Given the description of an element on the screen output the (x, y) to click on. 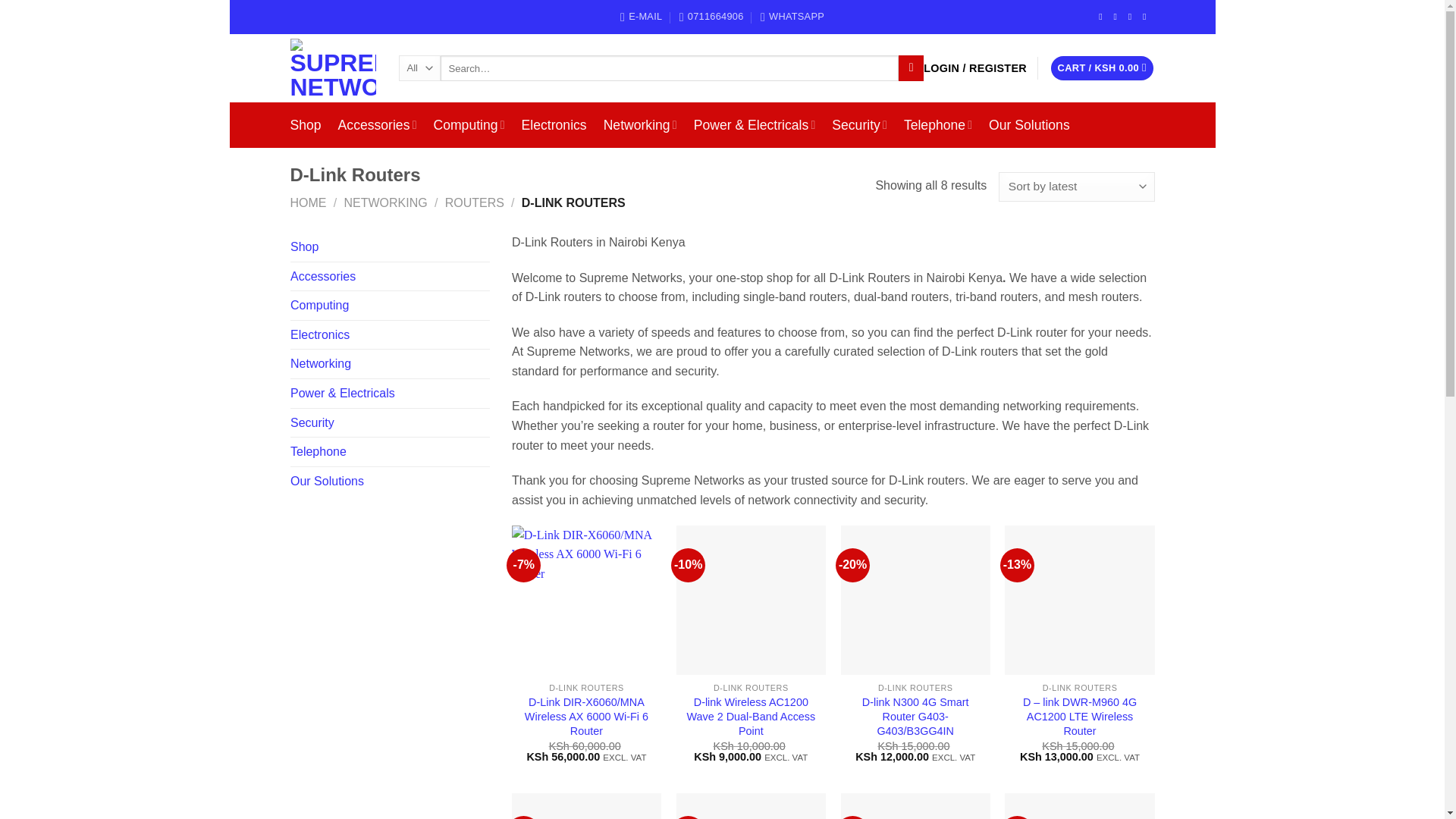
WHATSAPP (792, 15)
E-MAIL (641, 15)
Shop (304, 124)
Supreme Networks - ict solutions (332, 67)
Search (910, 68)
Accessories (376, 124)
0711664906 (711, 15)
0711664906 (711, 15)
